Given the description of an element on the screen output the (x, y) to click on. 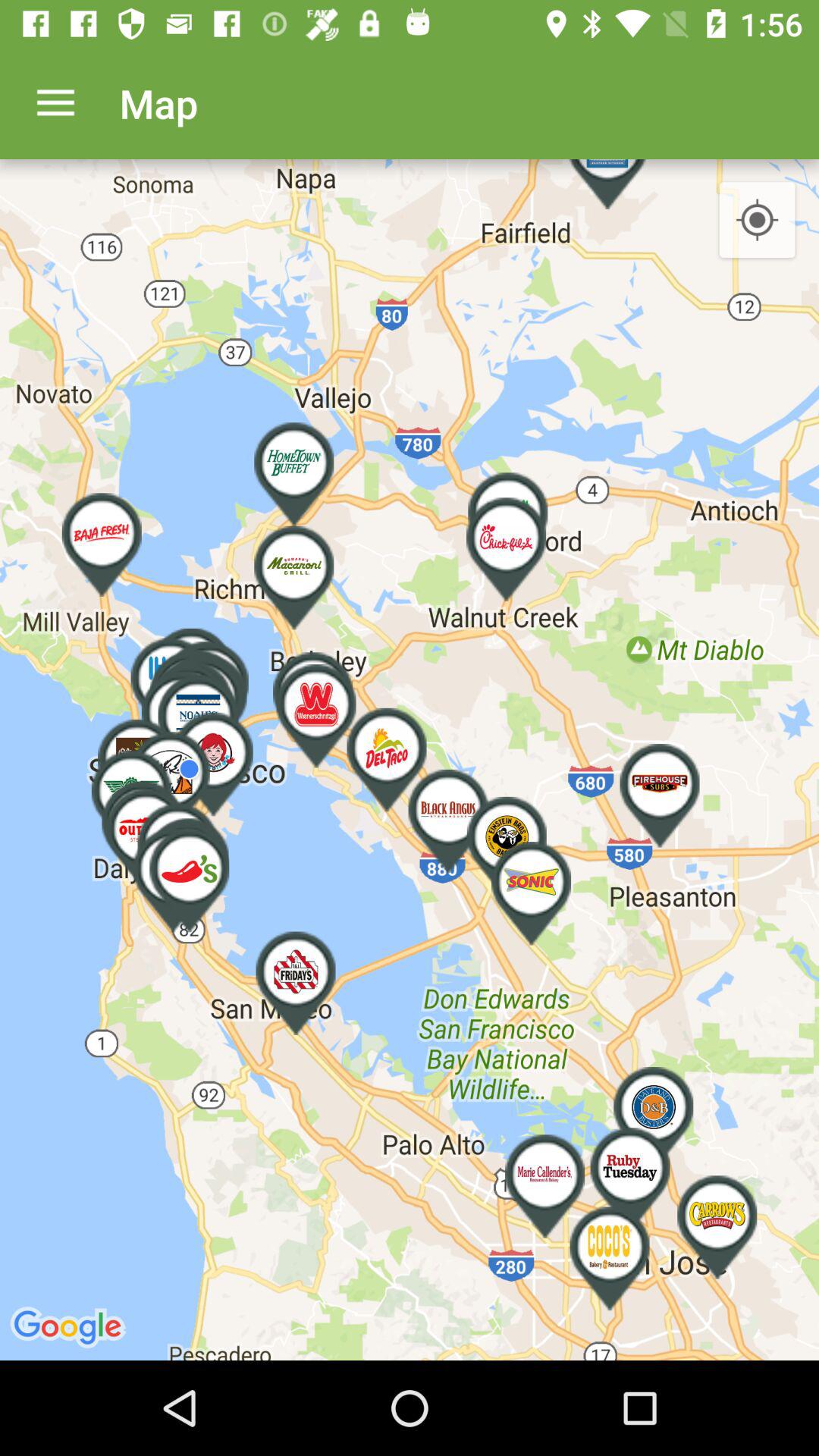
launch the icon at the top right corner (757, 220)
